Given the description of an element on the screen output the (x, y) to click on. 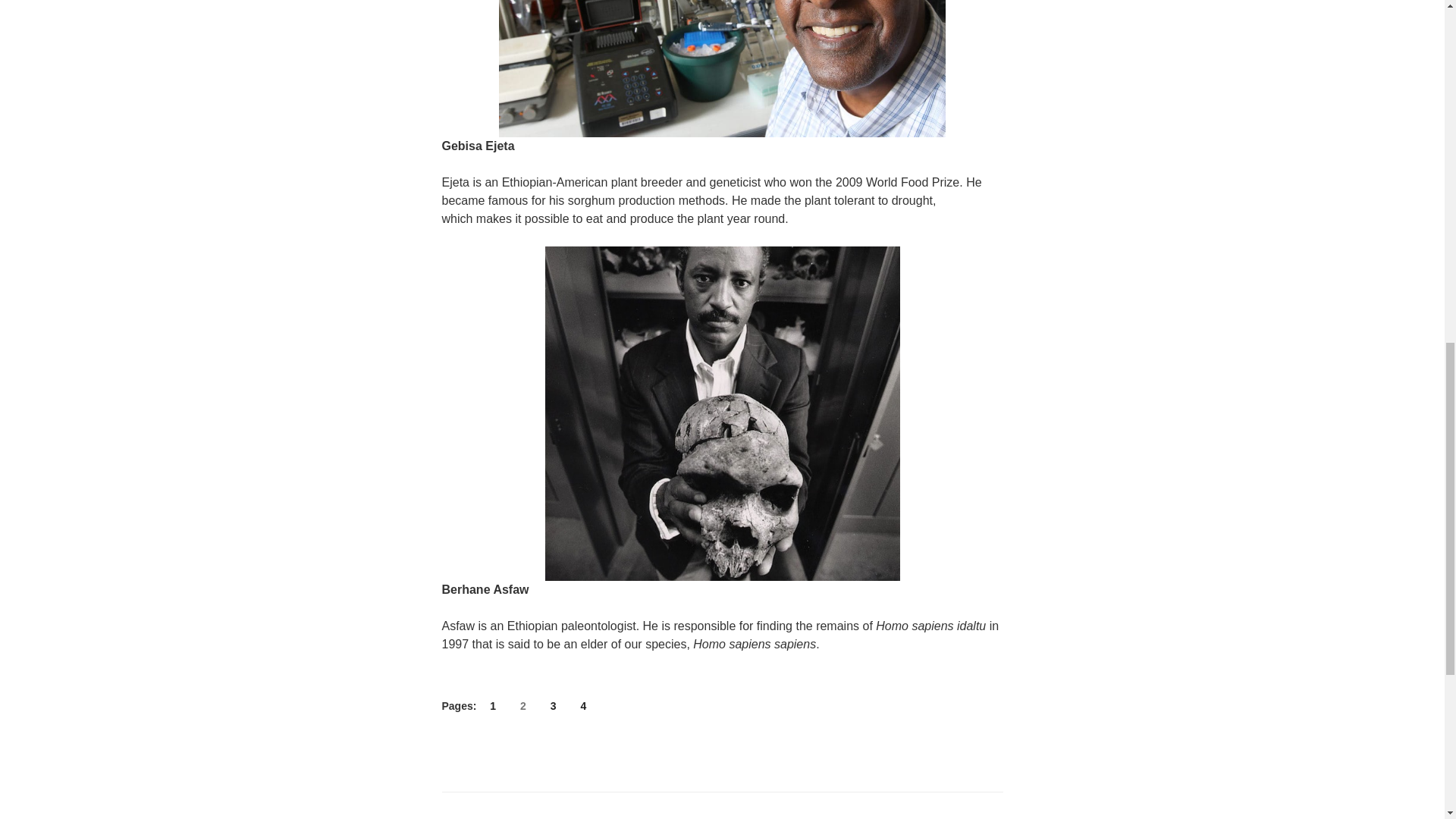
4 (582, 705)
EDUCATION (494, 818)
1 (492, 705)
3 (553, 705)
